Given the description of an element on the screen output the (x, y) to click on. 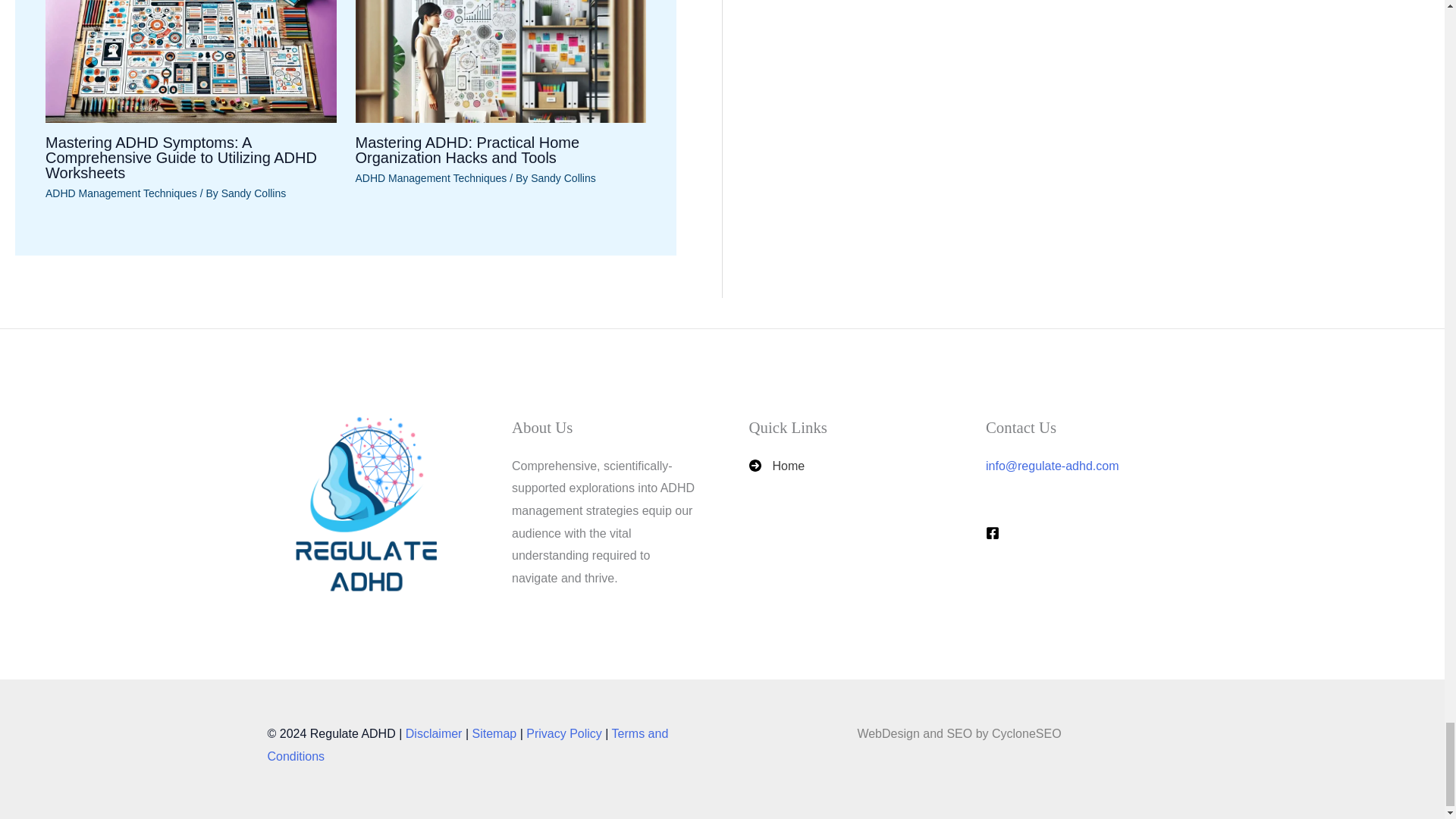
View all posts by Sandy Collins (253, 193)
View all posts by Sandy Collins (563, 177)
